Given the description of an element on the screen output the (x, y) to click on. 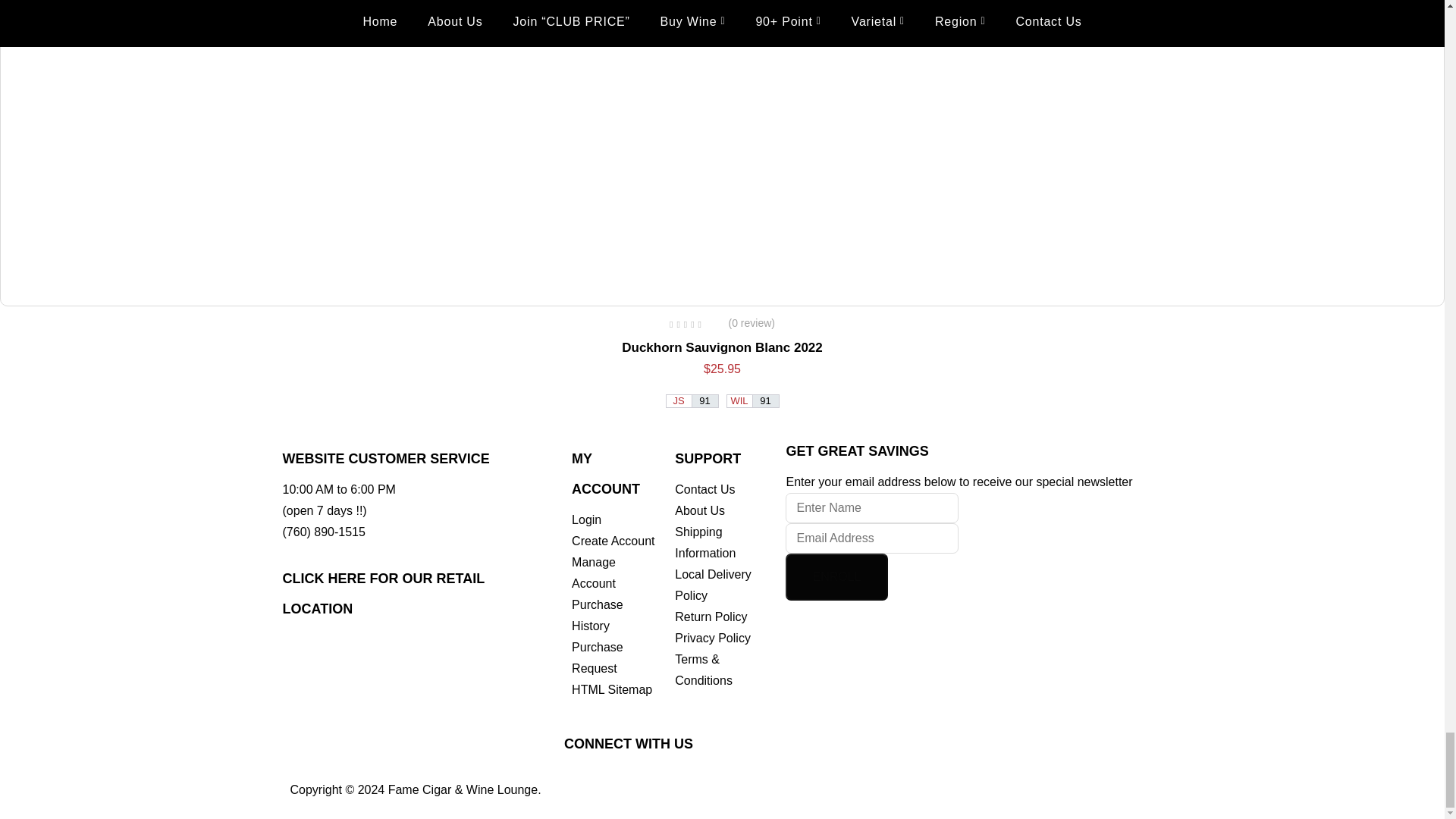
ENROLL (836, 576)
